Given the description of an element on the screen output the (x, y) to click on. 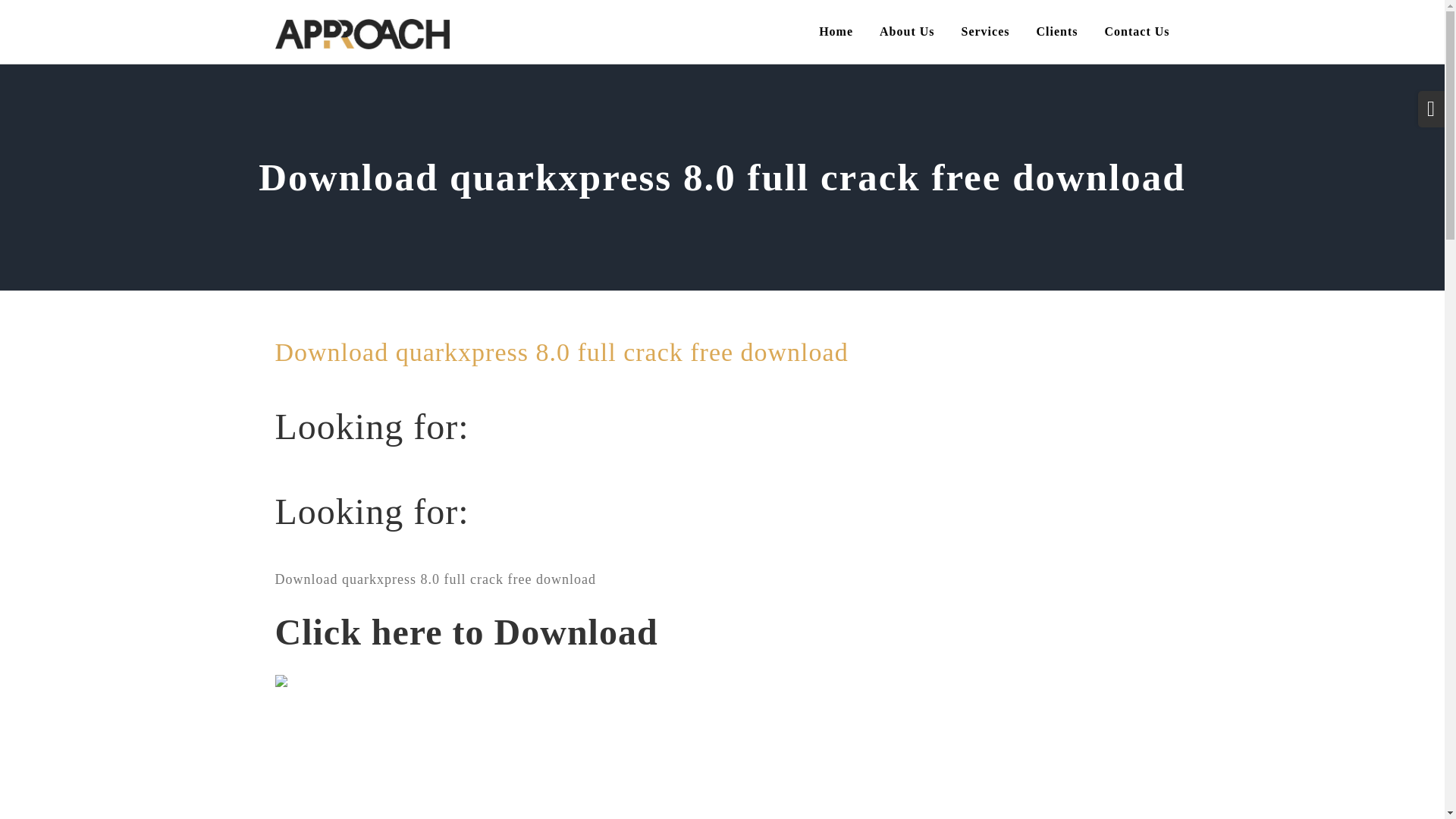
Contact Us (1136, 31)
Click here to Download (466, 639)
